Given the description of an element on the screen output the (x, y) to click on. 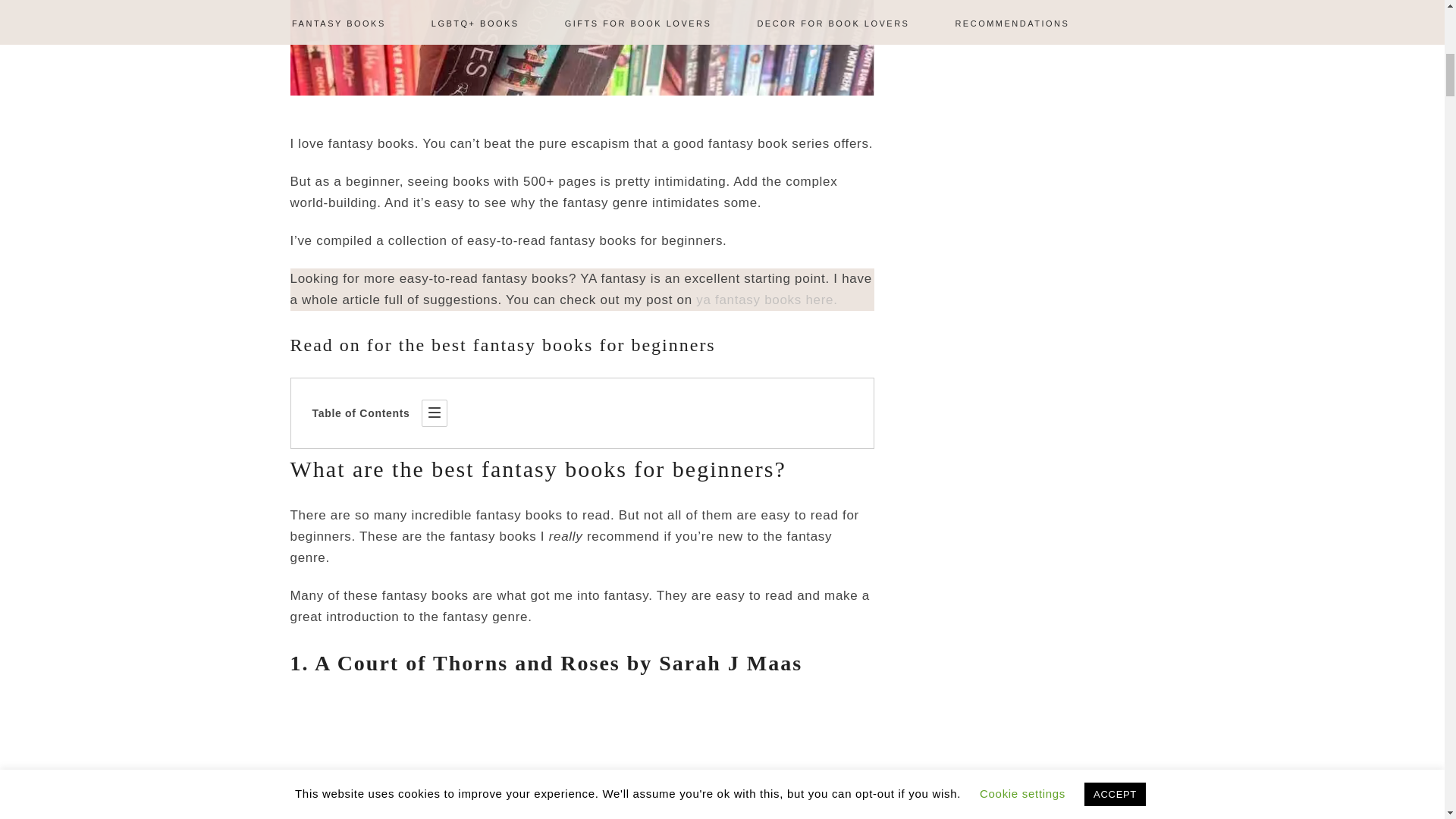
books with fae (581, 758)
fantasy books for beginners (581, 47)
ya fantasy books here. (766, 299)
